Given the description of an element on the screen output the (x, y) to click on. 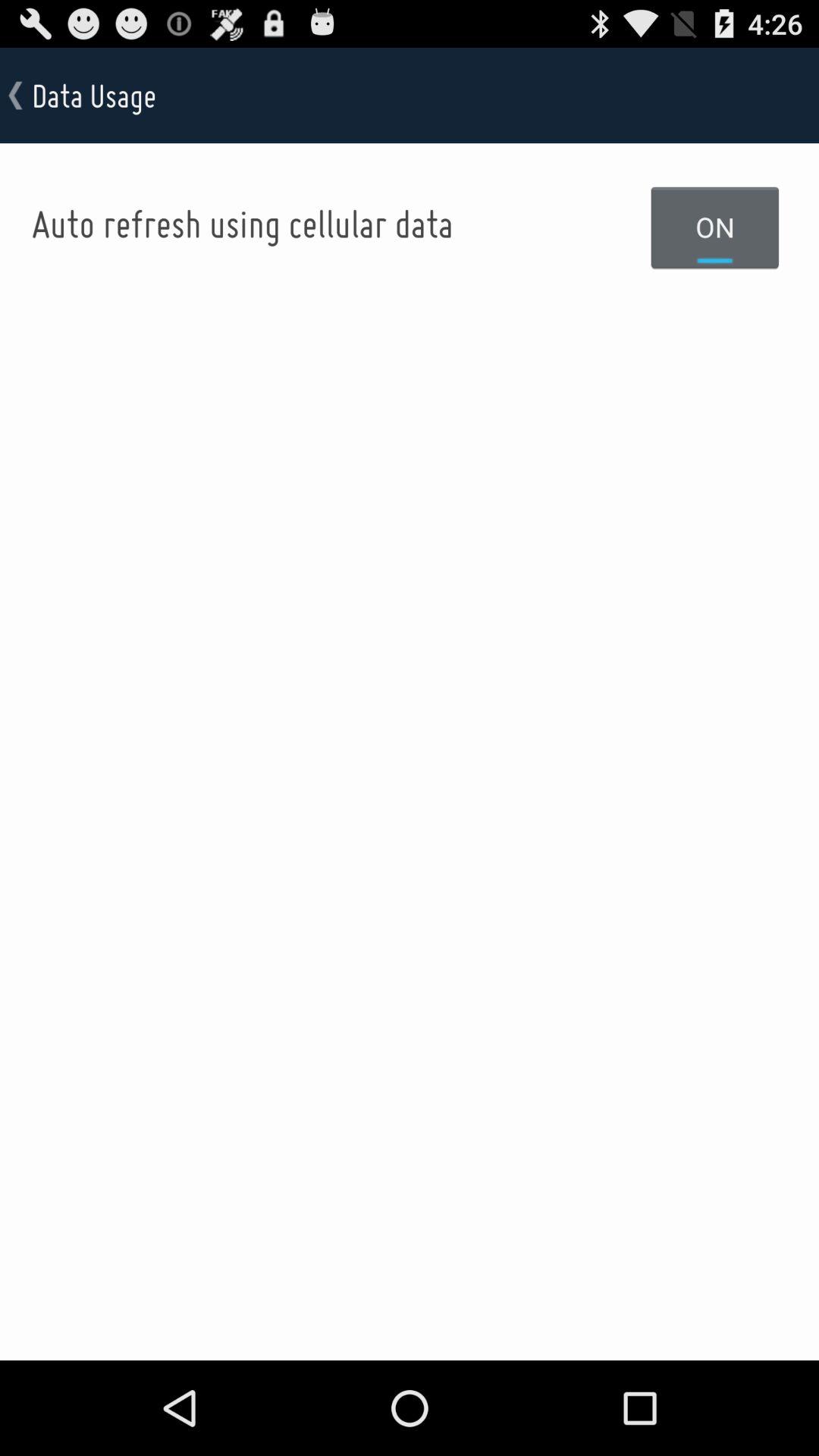
turn off the on at the top right corner (714, 226)
